Given the description of an element on the screen output the (x, y) to click on. 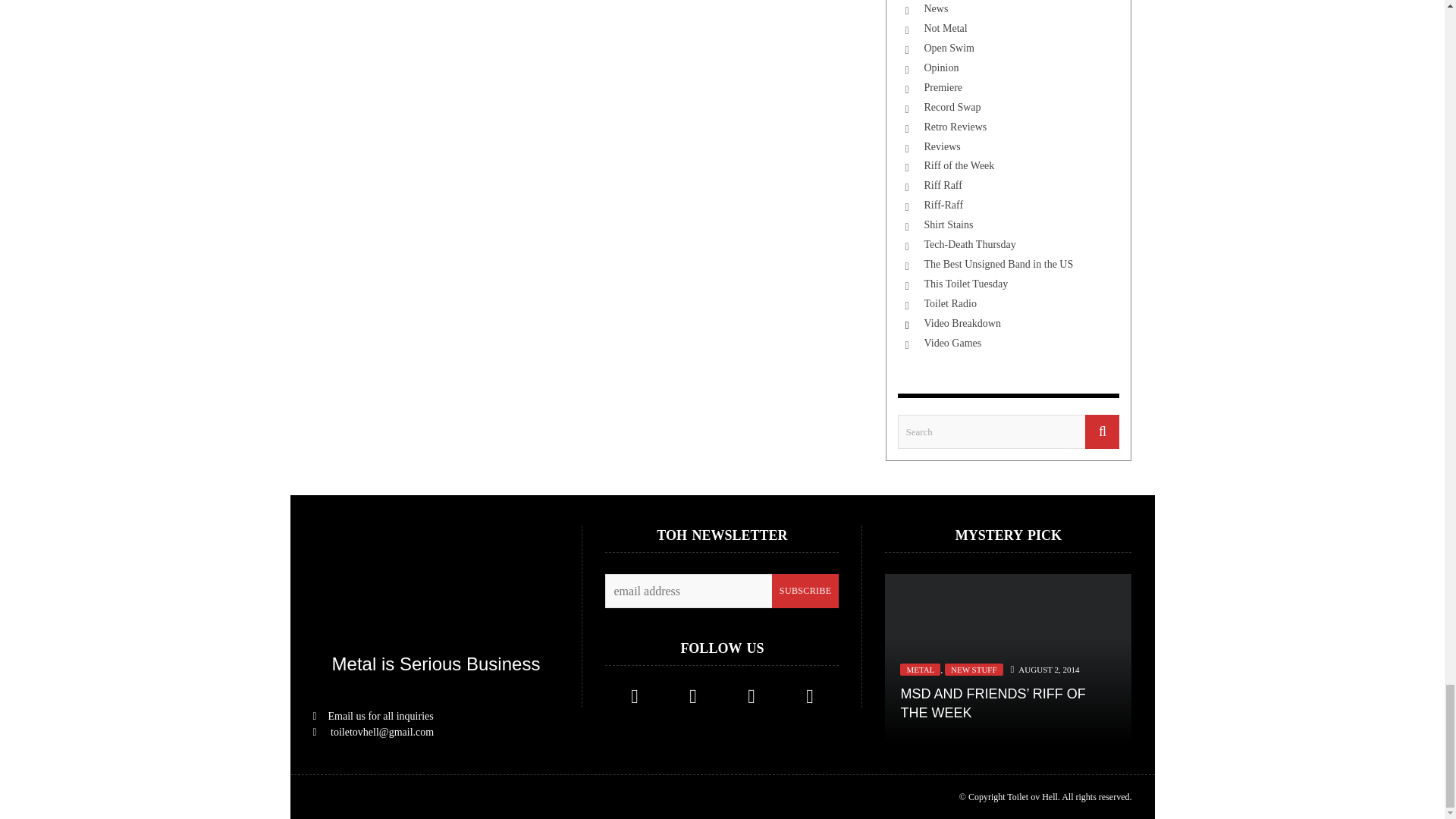
Search (1008, 431)
Subscribe (805, 591)
